Given the description of an element on the screen output the (x, y) to click on. 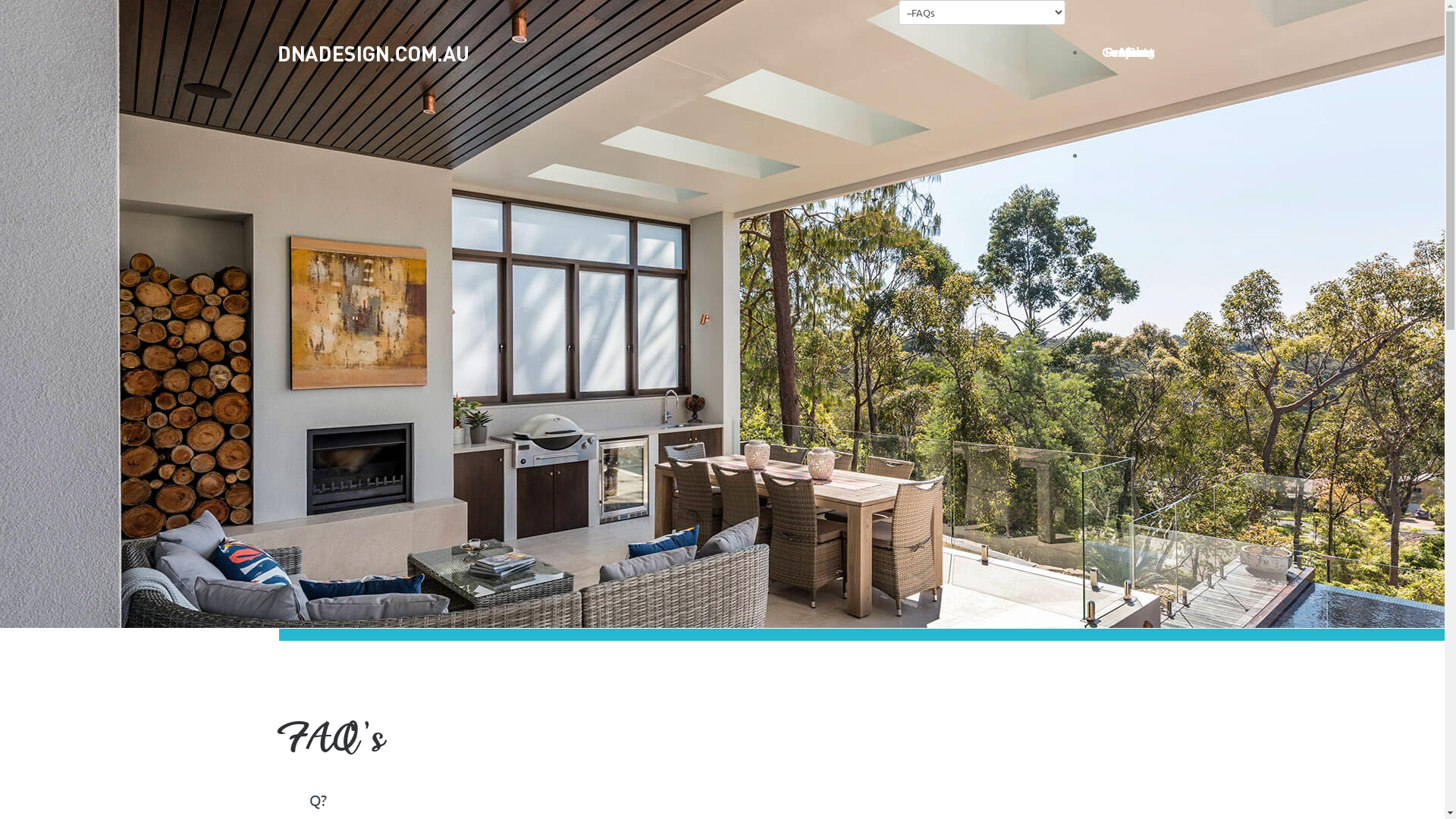
About Element type: text (1127, 154)
Contacts Element type: text (1127, 566)
Blog Element type: text (1127, 463)
Home Element type: text (1127, 51)
Services Element type: text (1127, 360)
Projects Element type: text (1127, 257)
